Given the description of an element on the screen output the (x, y) to click on. 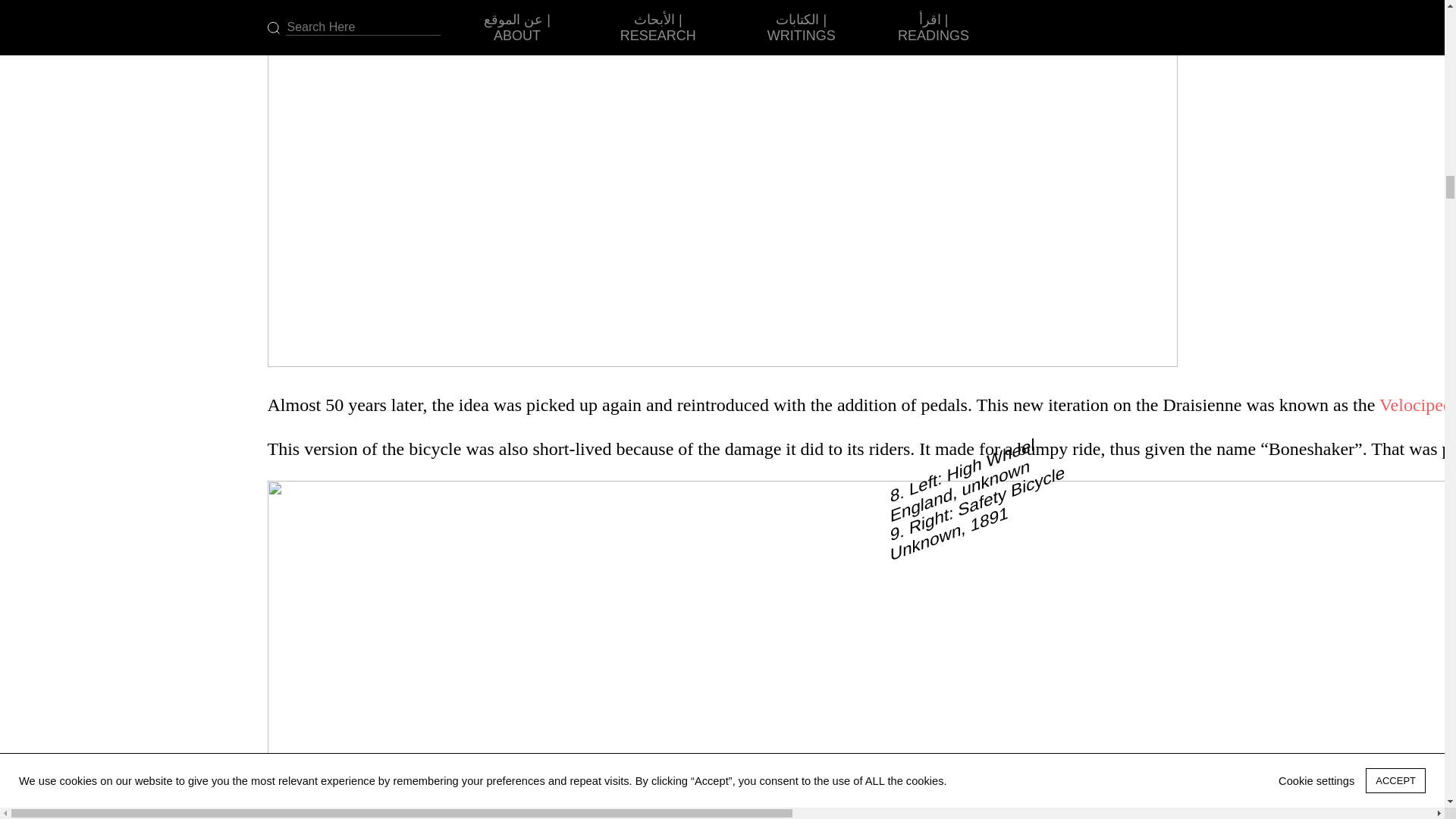
Velocipede (1417, 404)
